Given the description of an element on the screen output the (x, y) to click on. 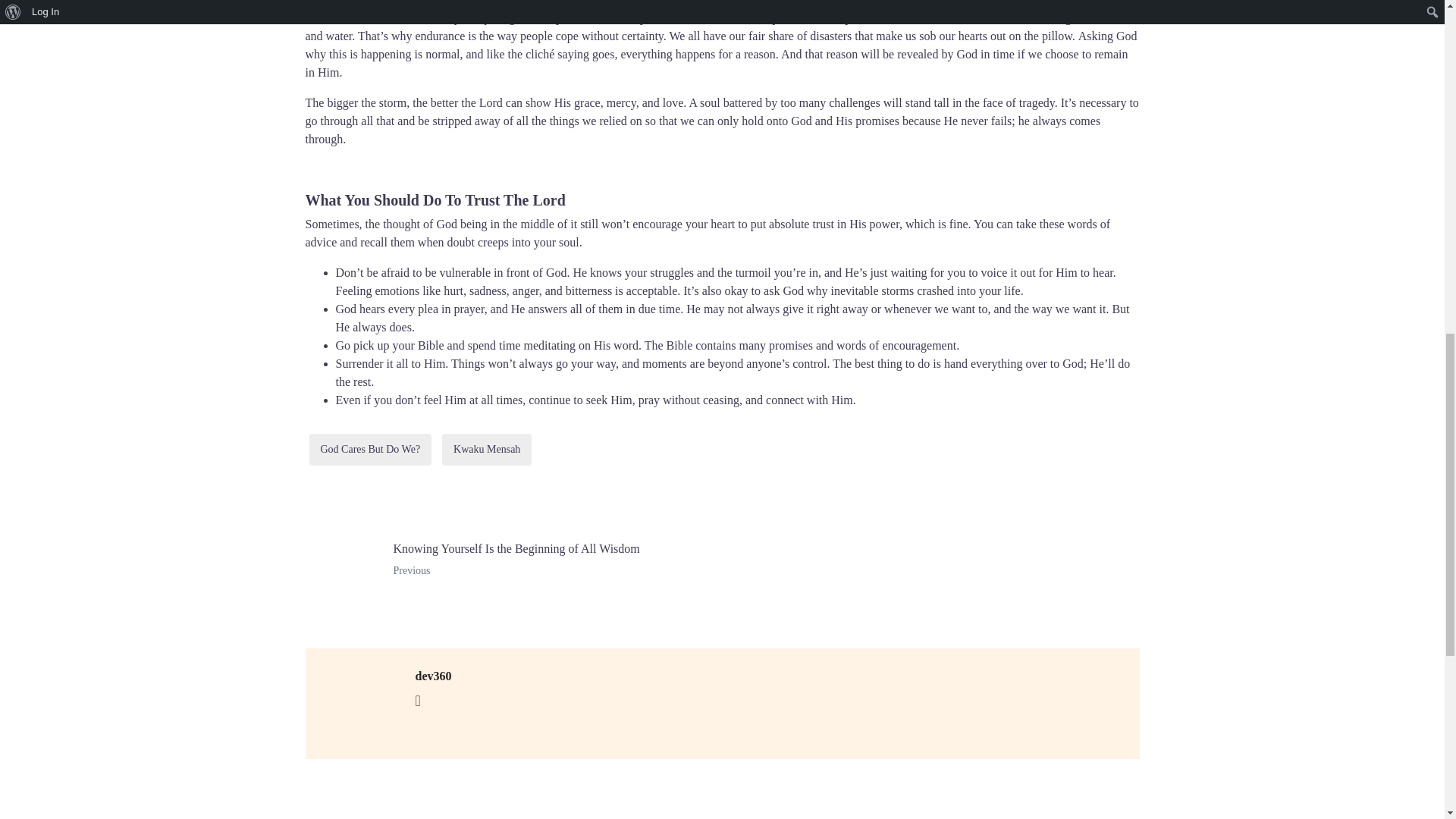
Asking God why this is happening is normal (720, 44)
dev360 (508, 560)
God Cares But Do We? (432, 676)
Kwaku Mensah (370, 449)
Knowing Yourself Is the Beginning of All Wisdom (486, 449)
